Given the description of an element on the screen output the (x, y) to click on. 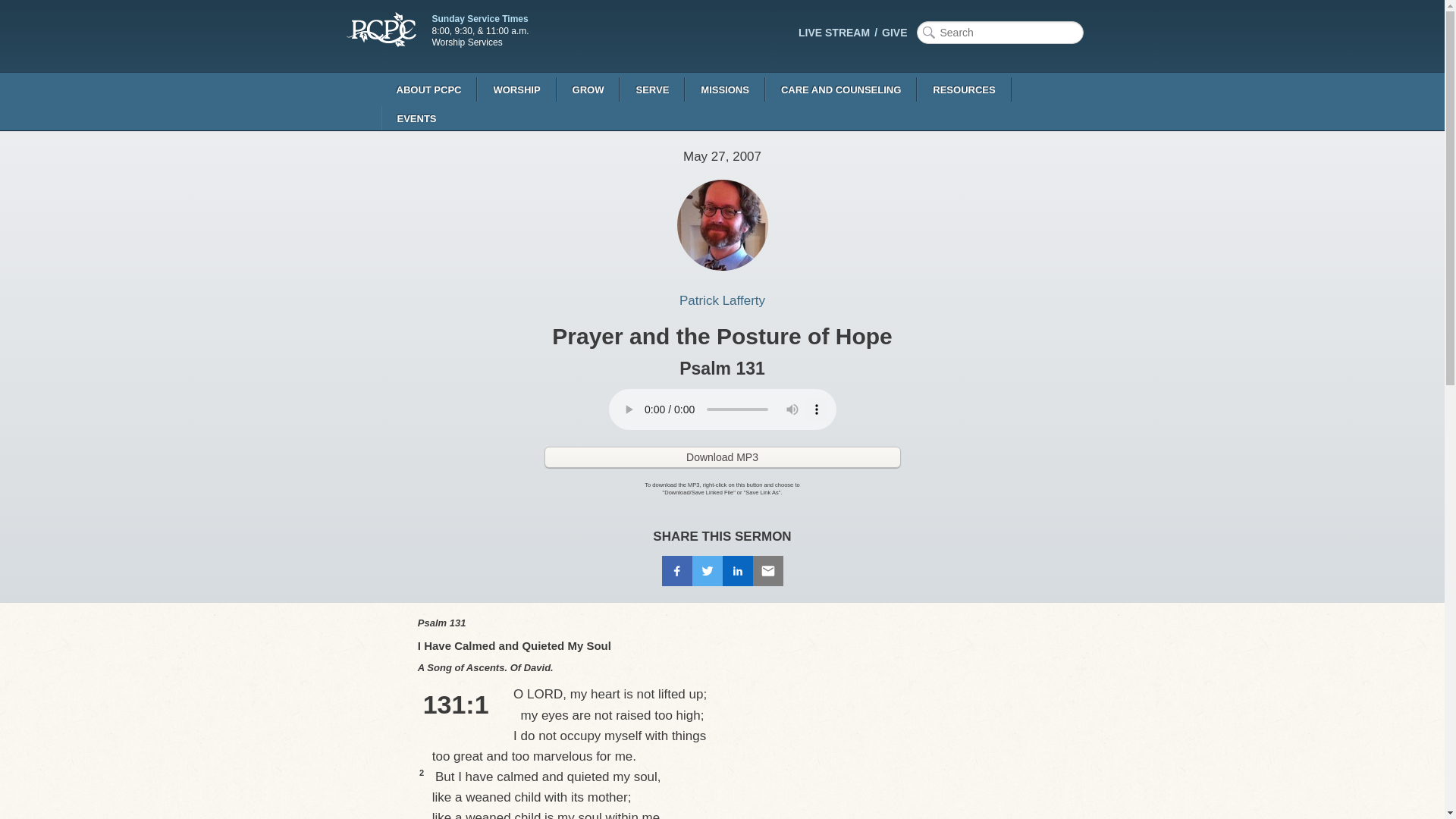
LIVE STREAM (839, 33)
GIVE (898, 33)
WORSHIP (516, 88)
ABOUT PCPC (428, 88)
GROW (588, 88)
